Given the description of an element on the screen output the (x, y) to click on. 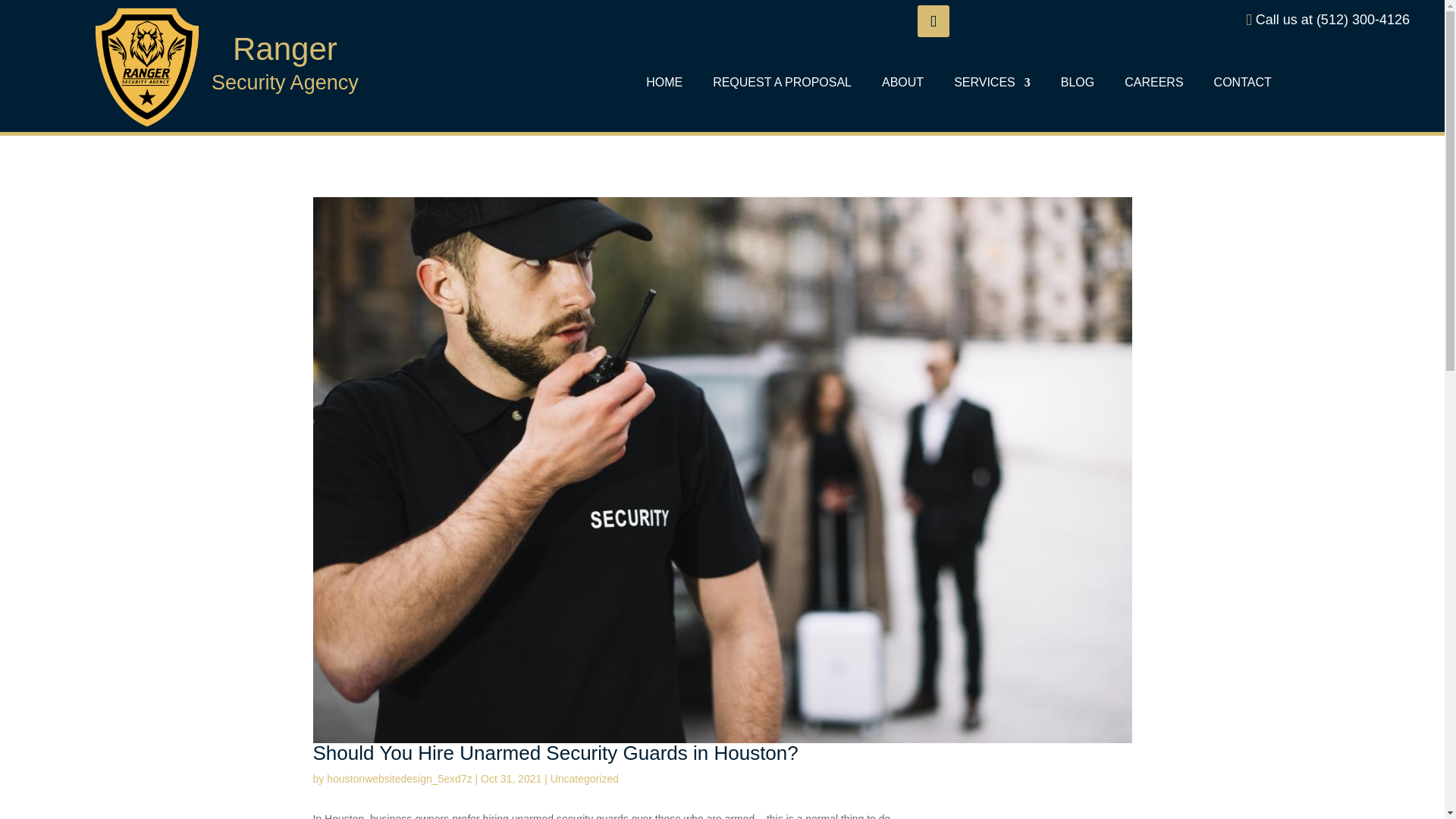
HOME (664, 85)
CONTACT (1242, 85)
BLOG (1077, 85)
ABOUT (902, 85)
SERVICES (991, 85)
REQUEST A PROPOSAL (782, 85)
Follow on Facebook (933, 20)
CAREERS (1153, 85)
